Given the description of an element on the screen output the (x, y) to click on. 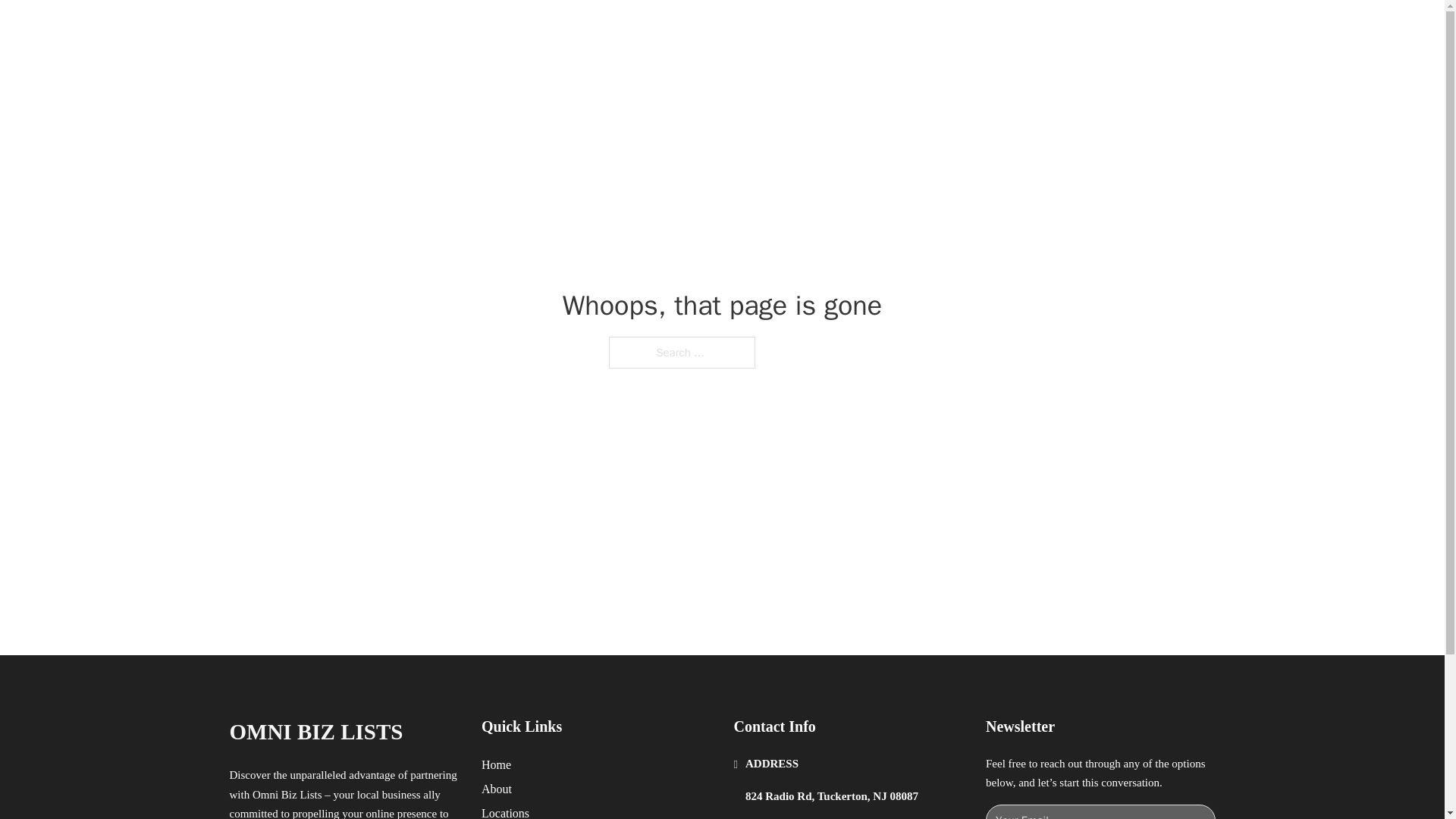
OMNI BIZ LISTS (315, 732)
About (496, 788)
Locations (505, 811)
Home (496, 764)
LOCATIONS (990, 29)
OMNI BIZ LISTS (390, 28)
HOME (919, 29)
